Given the description of an element on the screen output the (x, y) to click on. 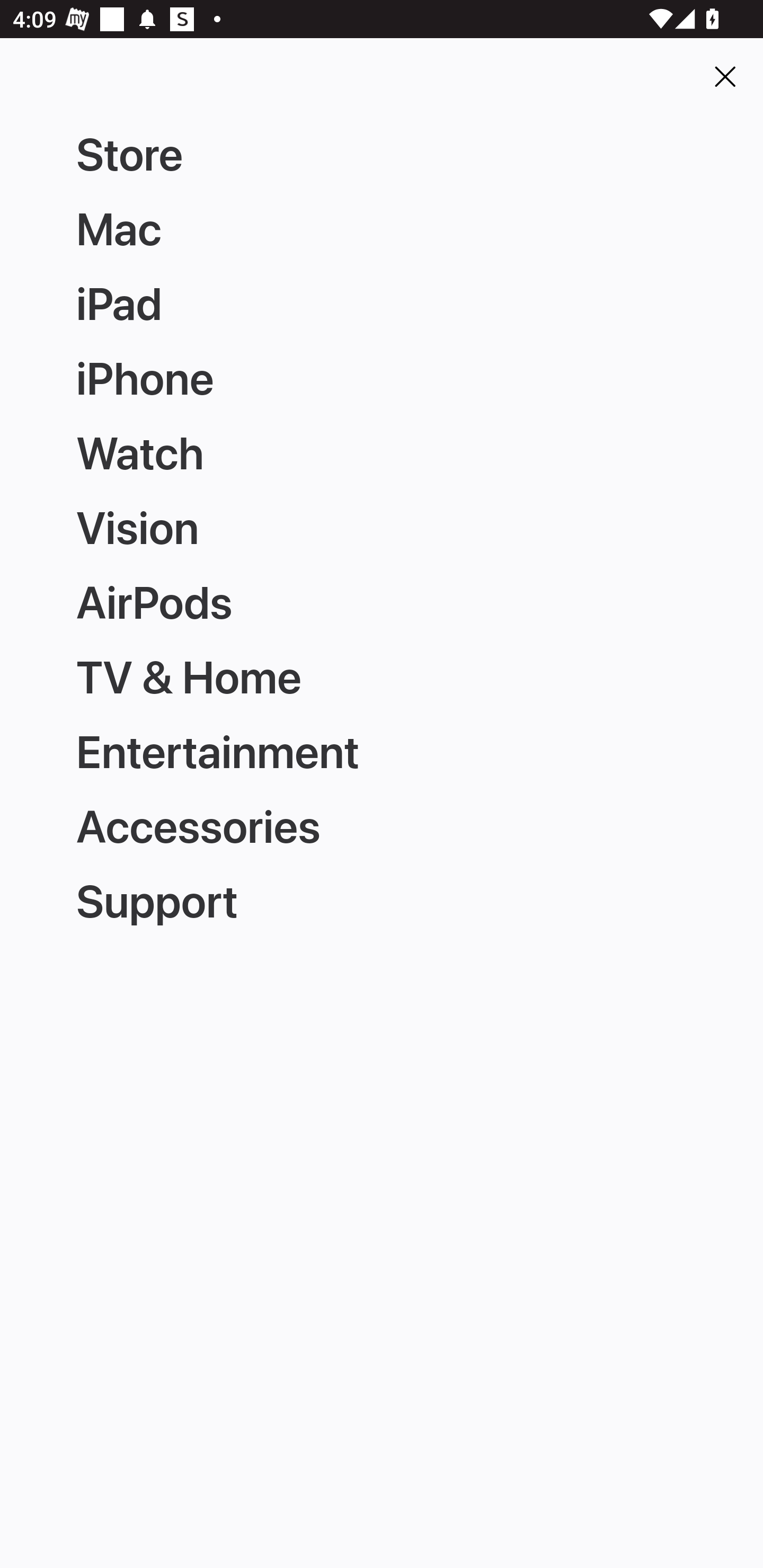
Close (724, 75)
Store menu (381, 155)
Mac menu (381, 230)
iPad menu (381, 304)
iPhone menu (381, 380)
Watch menu (381, 453)
Vision menu (381, 528)
AirPods menu (381, 601)
TV and Home menu (381, 675)
Entertainment menu (381, 749)
Accessories menu (381, 821)
Support menu (381, 893)
